Given the description of an element on the screen output the (x, y) to click on. 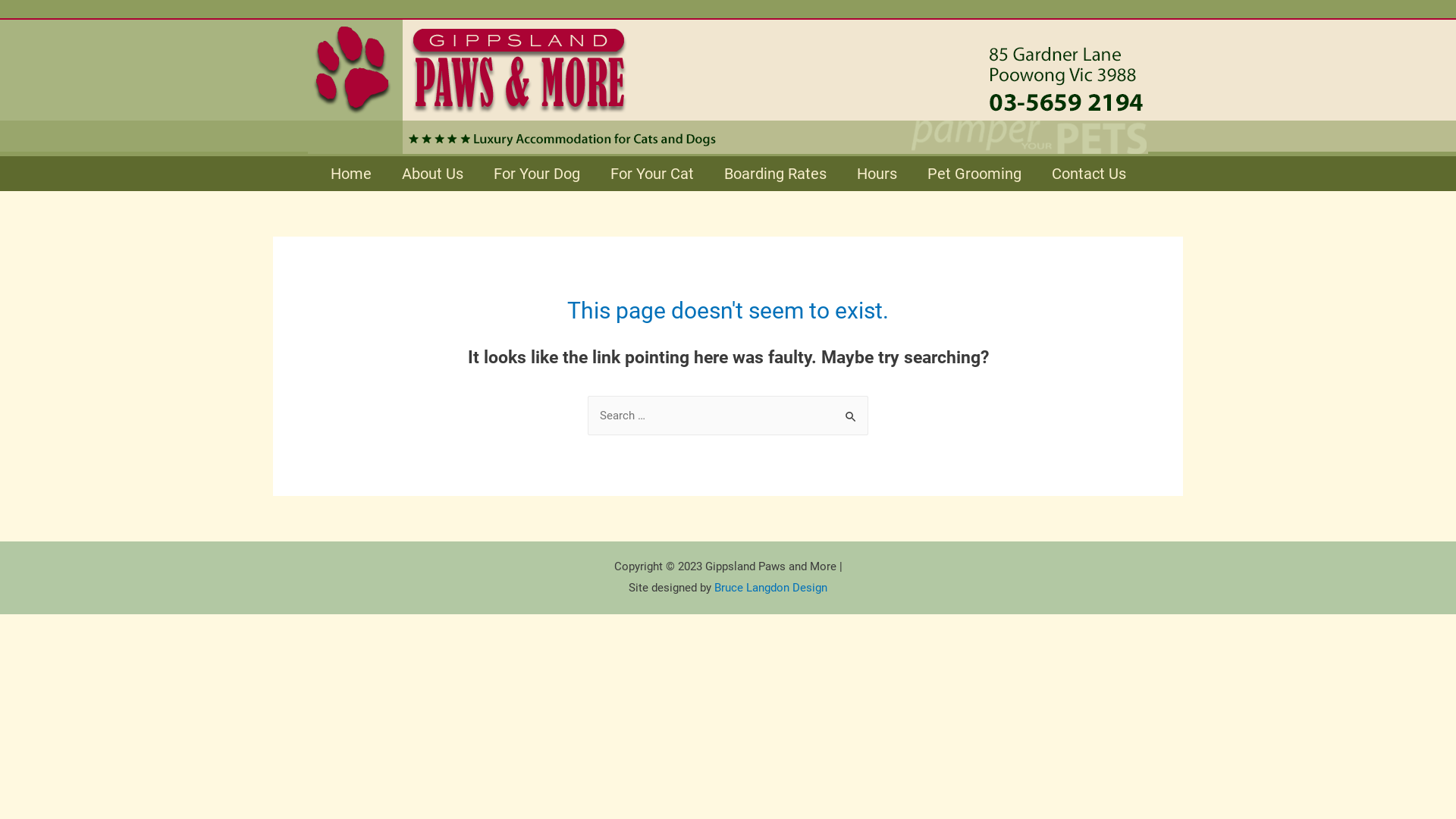
Contact Us Element type: text (1087, 173)
Home Element type: text (350, 173)
Bruce Langdon Design Element type: text (770, 587)
Hours Element type: text (876, 173)
For Your Cat Element type: text (651, 173)
For Your Dog Element type: text (535, 173)
Boarding Rates Element type: text (774, 173)
Pet Grooming Element type: text (973, 173)
Search Element type: text (851, 410)
About Us Element type: text (432, 173)
